Given the description of an element on the screen output the (x, y) to click on. 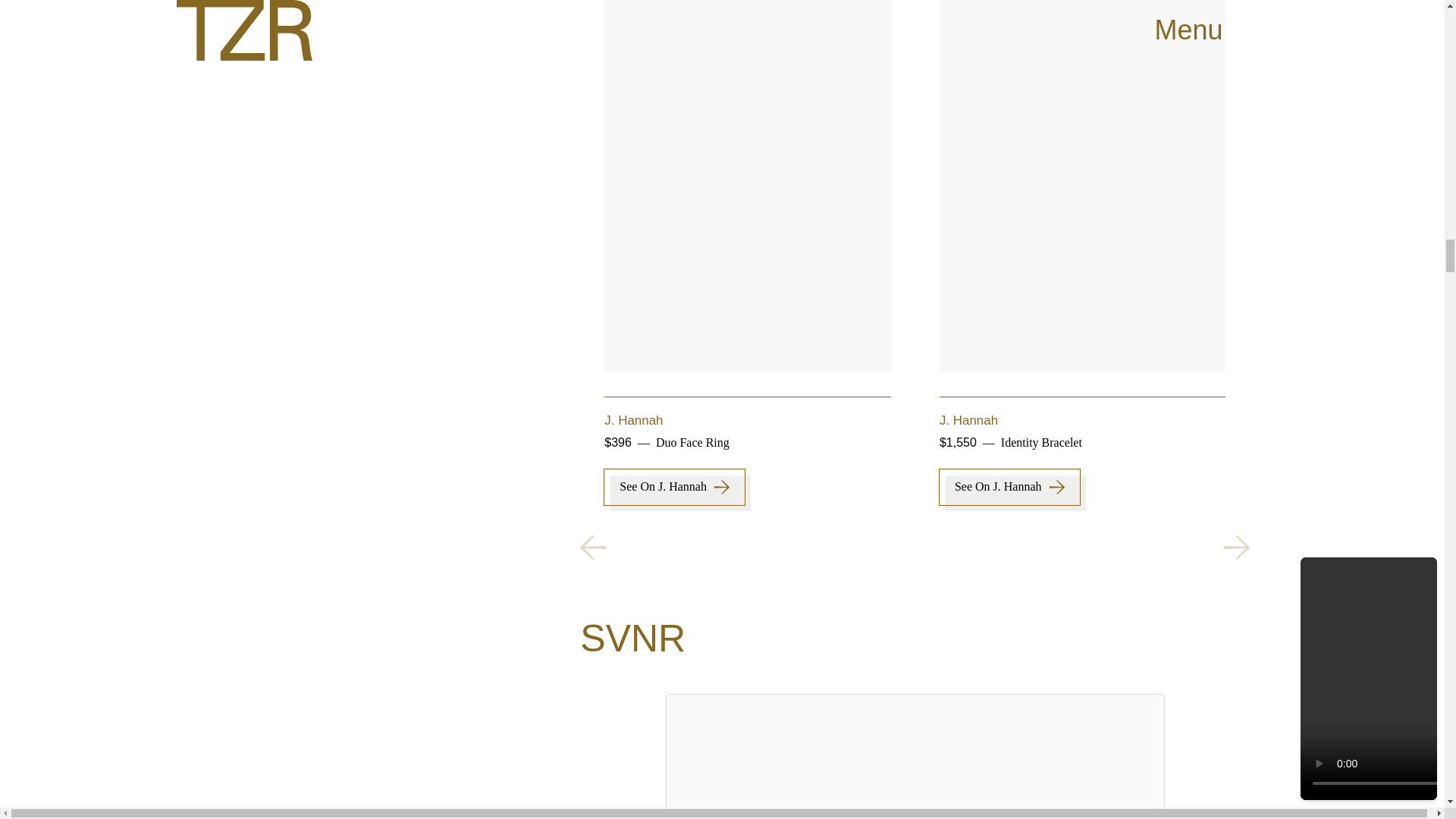
Previous page (592, 547)
See On J. Hannah (674, 487)
See On J. Hannah (1009, 487)
Next page (1236, 547)
See On J. Hannah (1343, 487)
